Given the description of an element on the screen output the (x, y) to click on. 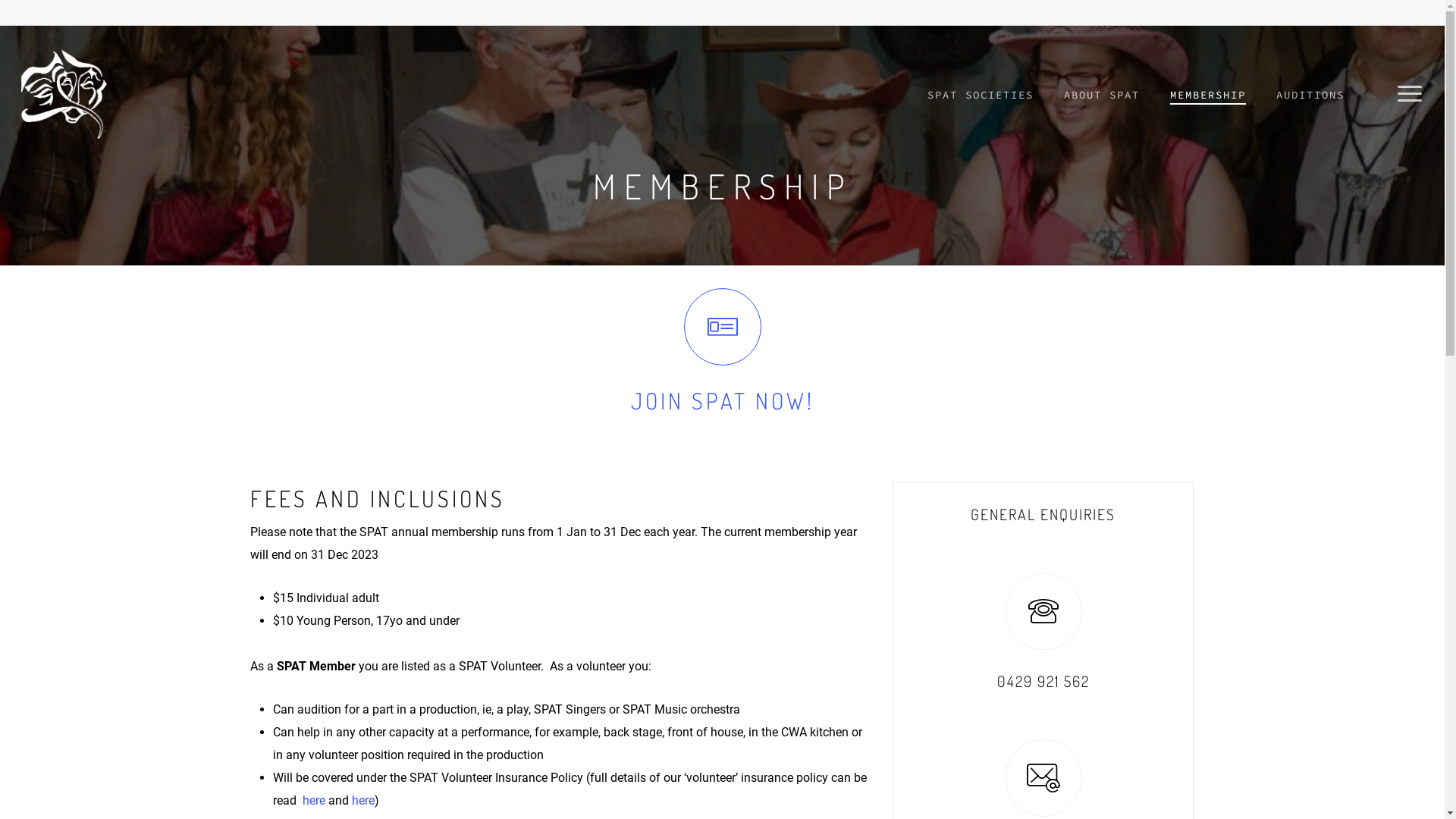
JOIN SPAT NOW! Element type: text (722, 399)
AUDITIONS Element type: text (1310, 94)
ABOUT SPAT Element type: text (1101, 94)
here Element type: text (362, 800)
MEMBERSHIP Element type: text (1207, 94)
here Element type: text (313, 800)
SPAT SOCIETIES Element type: text (980, 94)
